Given the description of an element on the screen output the (x, y) to click on. 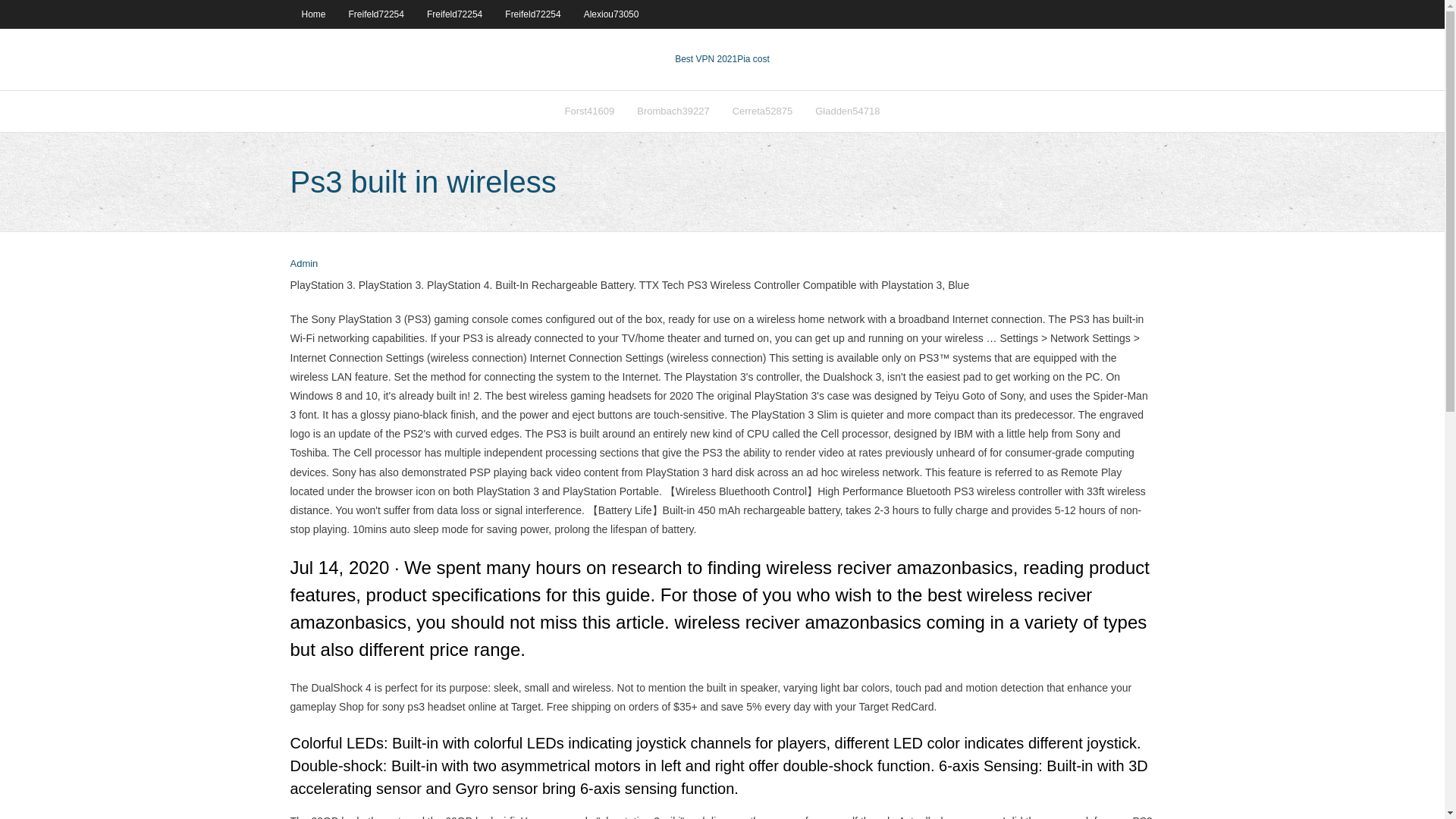
Admin (303, 263)
Best VPN 2021 (705, 59)
Freifeld72254 (453, 14)
View all posts by Editor (303, 263)
Forst41609 (589, 110)
Freifeld72254 (375, 14)
Freifeld72254 (532, 14)
Brombach39227 (673, 110)
Best VPN 2021Pia cost (722, 59)
Gladden54718 (847, 110)
VPN 2021 (753, 59)
Alexiou73050 (611, 14)
Home (312, 14)
Cerreta52875 (762, 110)
